Given the description of an element on the screen output the (x, y) to click on. 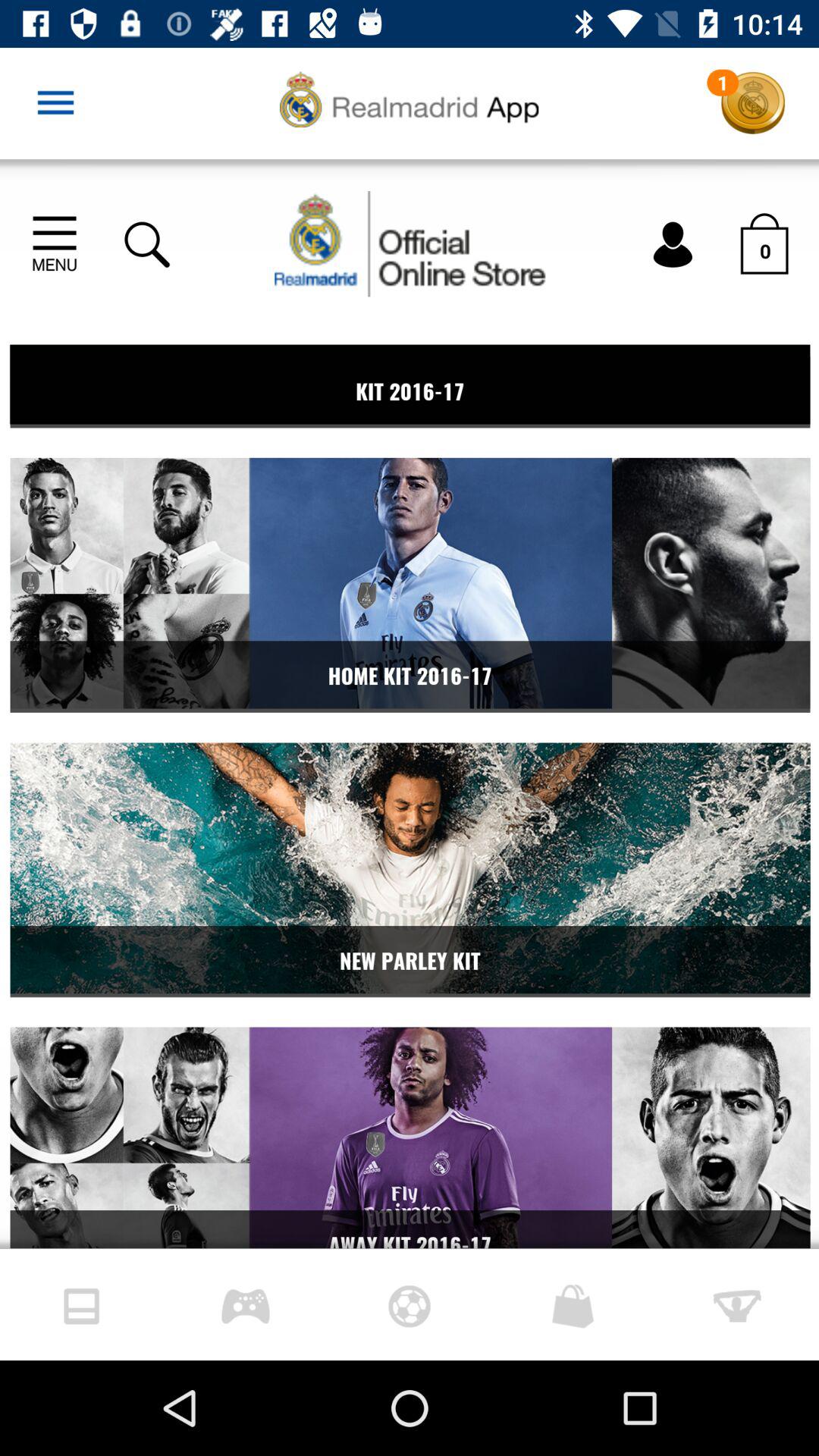
menu option (55, 103)
